Given the description of an element on the screen output the (x, y) to click on. 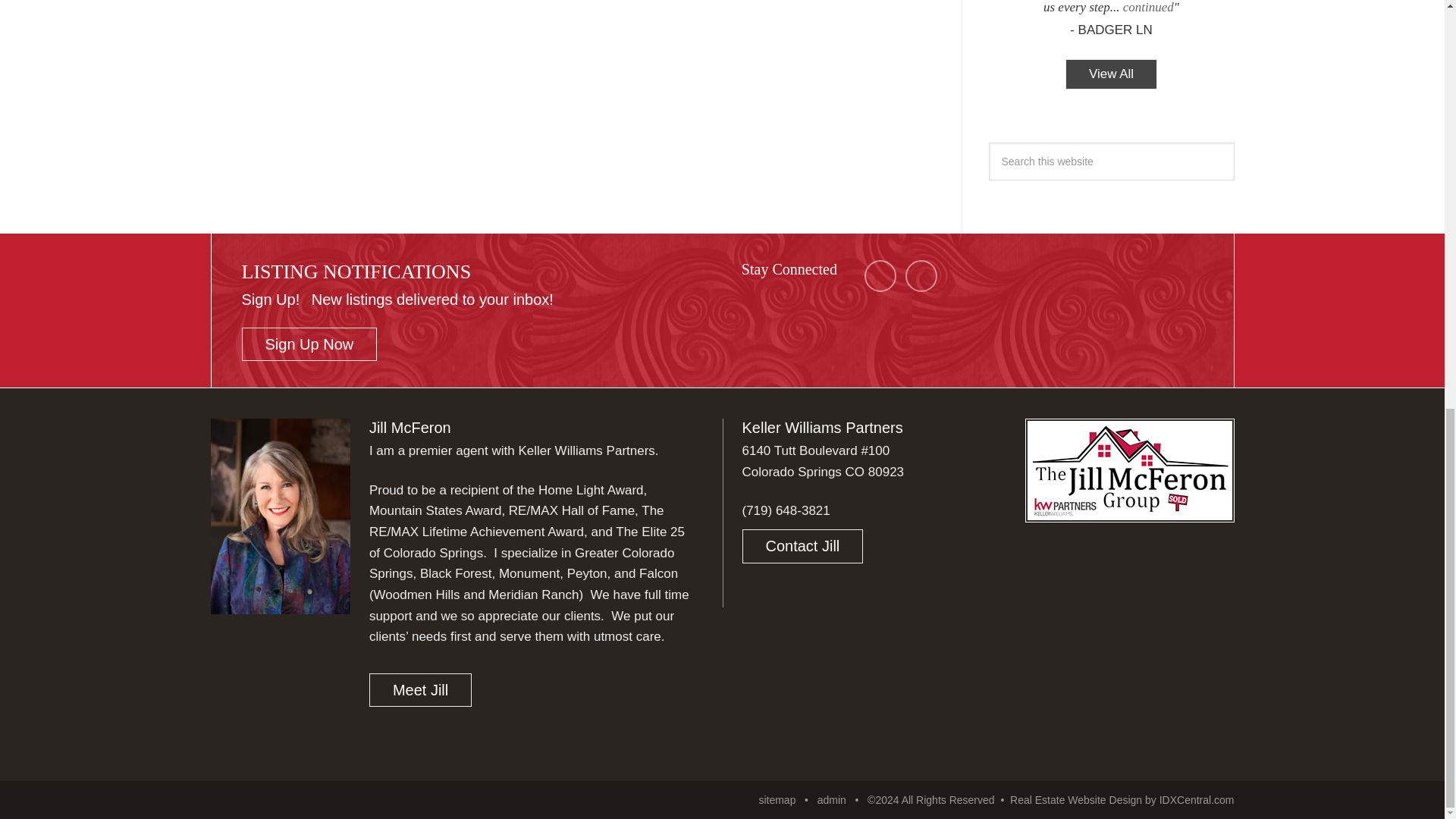
Real Estate Website Design (1075, 799)
View All (1111, 73)
Sign Up Now (309, 344)
continued (1147, 7)
